Given the description of an element on the screen output the (x, y) to click on. 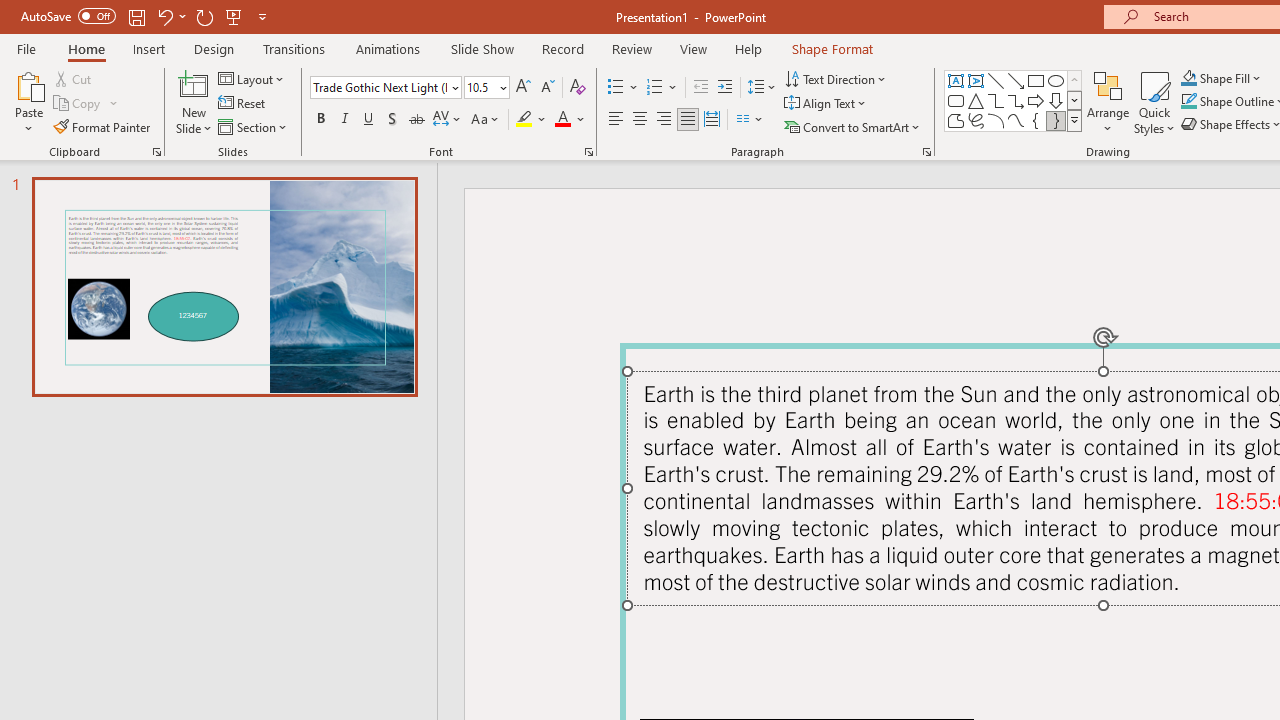
Curve (1016, 120)
Justify (687, 119)
Freeform: Shape (955, 120)
Font... (588, 151)
Arrow: Down (1055, 100)
Cut (73, 78)
Center (639, 119)
